Given the description of an element on the screen output the (x, y) to click on. 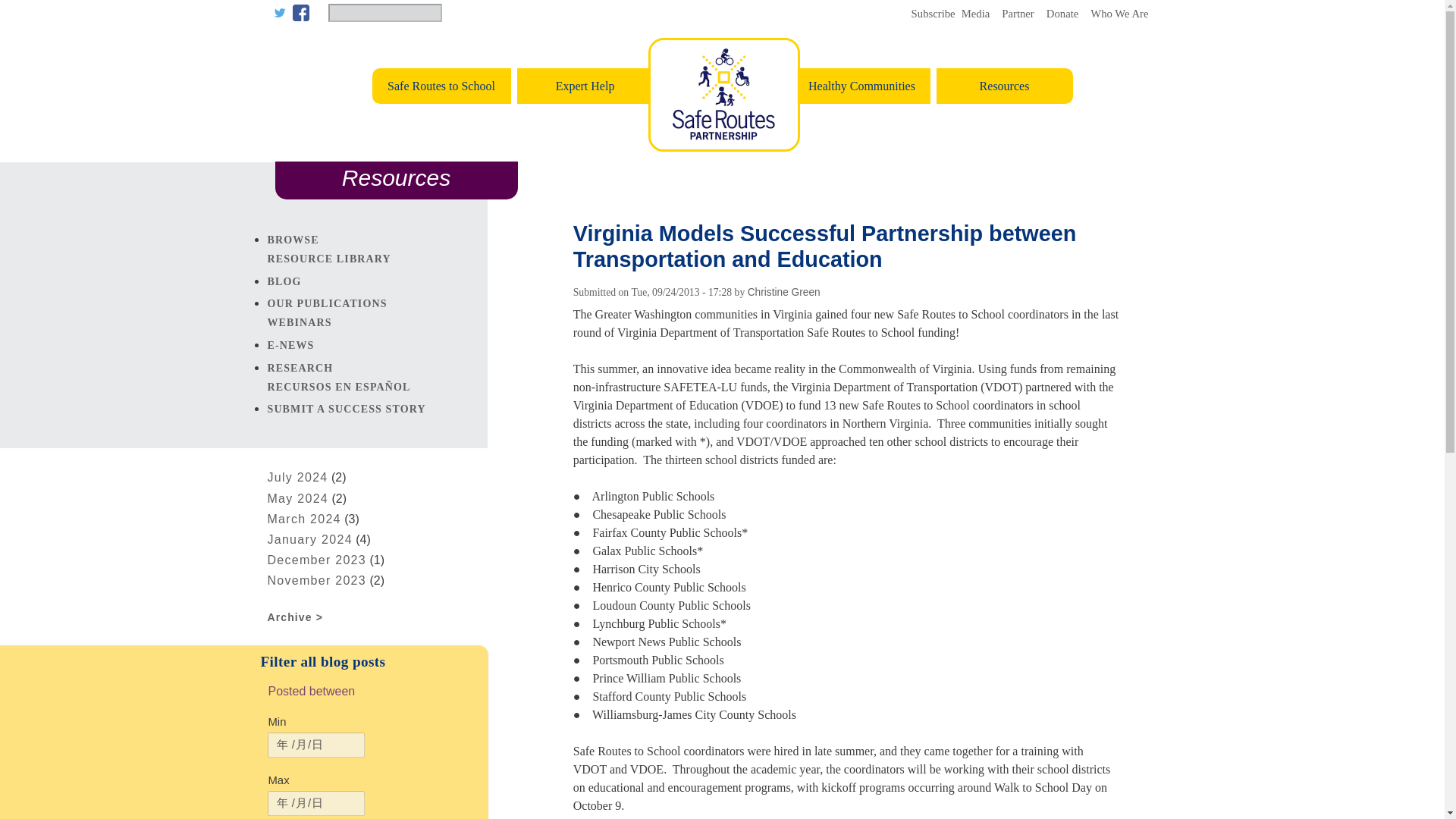
Search (454, 13)
Enter the terms you wish to search for. (384, 13)
Partner (1018, 13)
Expert Help (583, 85)
Who We Are (1119, 13)
Skip to main content (722, 1)
Home (723, 146)
Search (454, 13)
Subscribe (930, 13)
Search (454, 13)
Twitter (279, 12)
Safe Routes to School (439, 85)
Donate (1062, 13)
Join (1018, 13)
Facebook (300, 12)
